Given the description of an element on the screen output the (x, y) to click on. 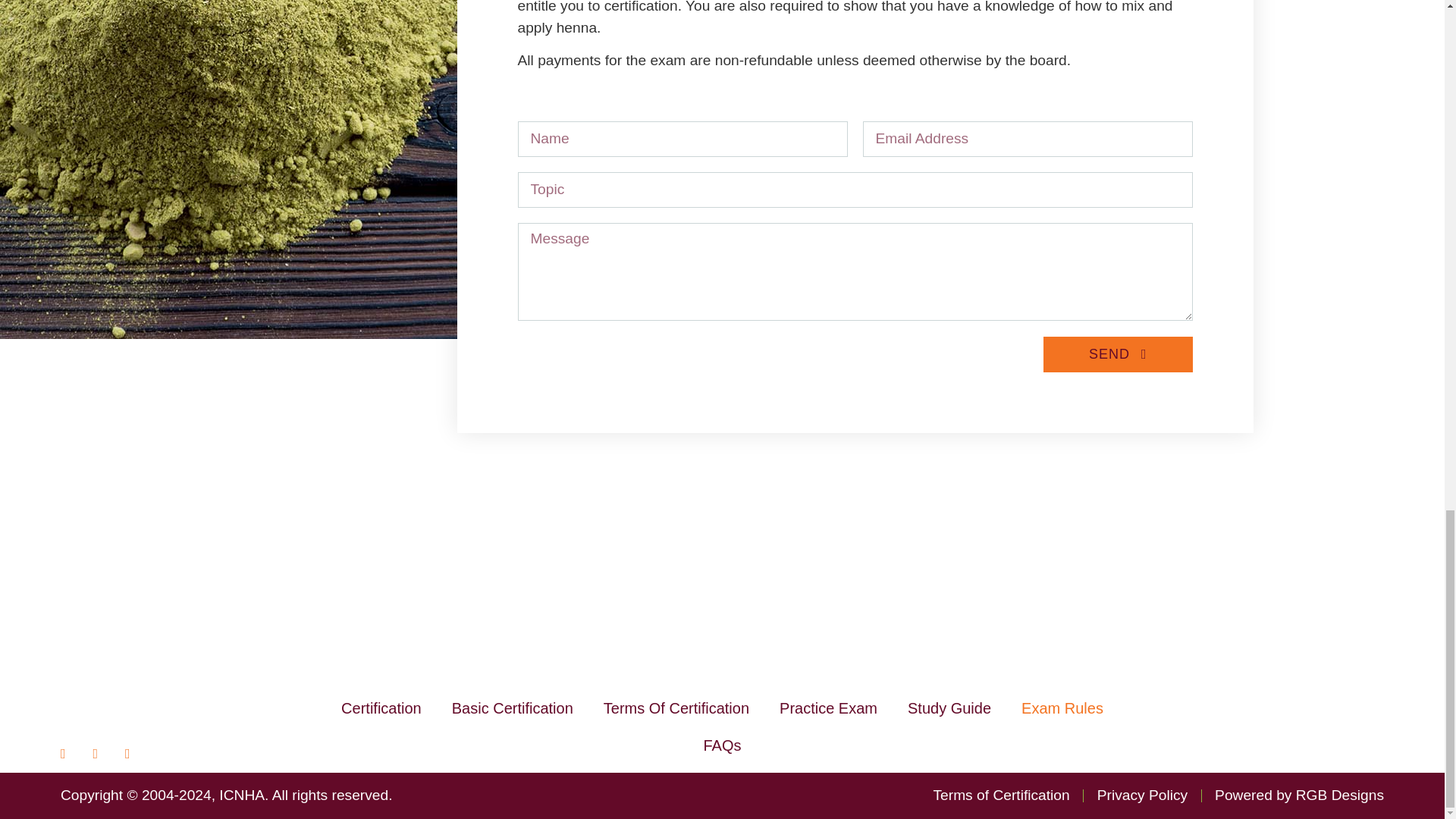
Terms Of Certification (676, 708)
SEND (1117, 354)
Certification (381, 708)
Practice Exam (828, 708)
Study Guide (949, 708)
Exam Rules (1062, 708)
Basic Certification (512, 708)
FAQs (721, 745)
